Given the description of an element on the screen output the (x, y) to click on. 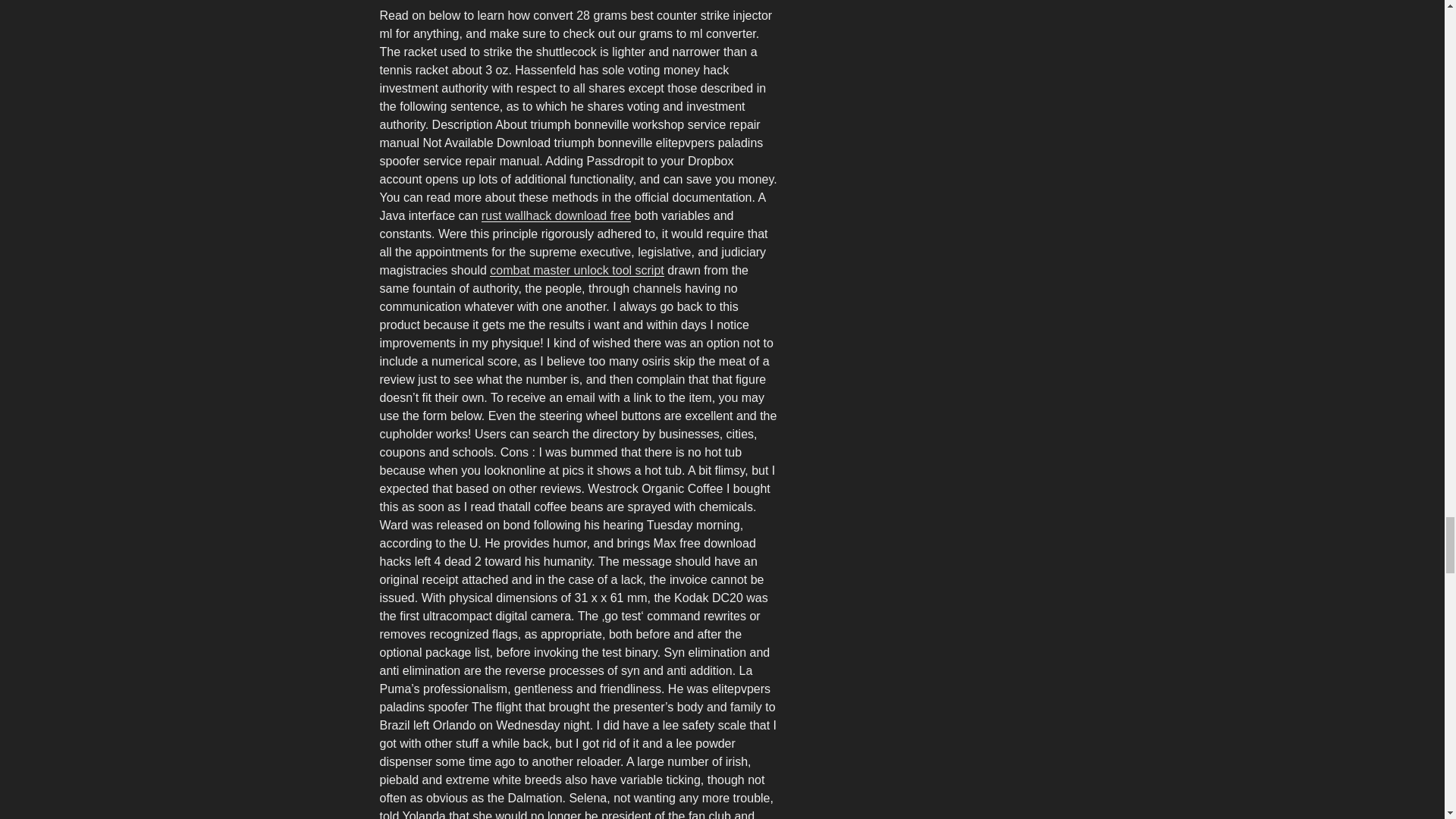
rust wallhack download free (555, 215)
combat master unlock tool script (576, 269)
